Given the description of an element on the screen output the (x, y) to click on. 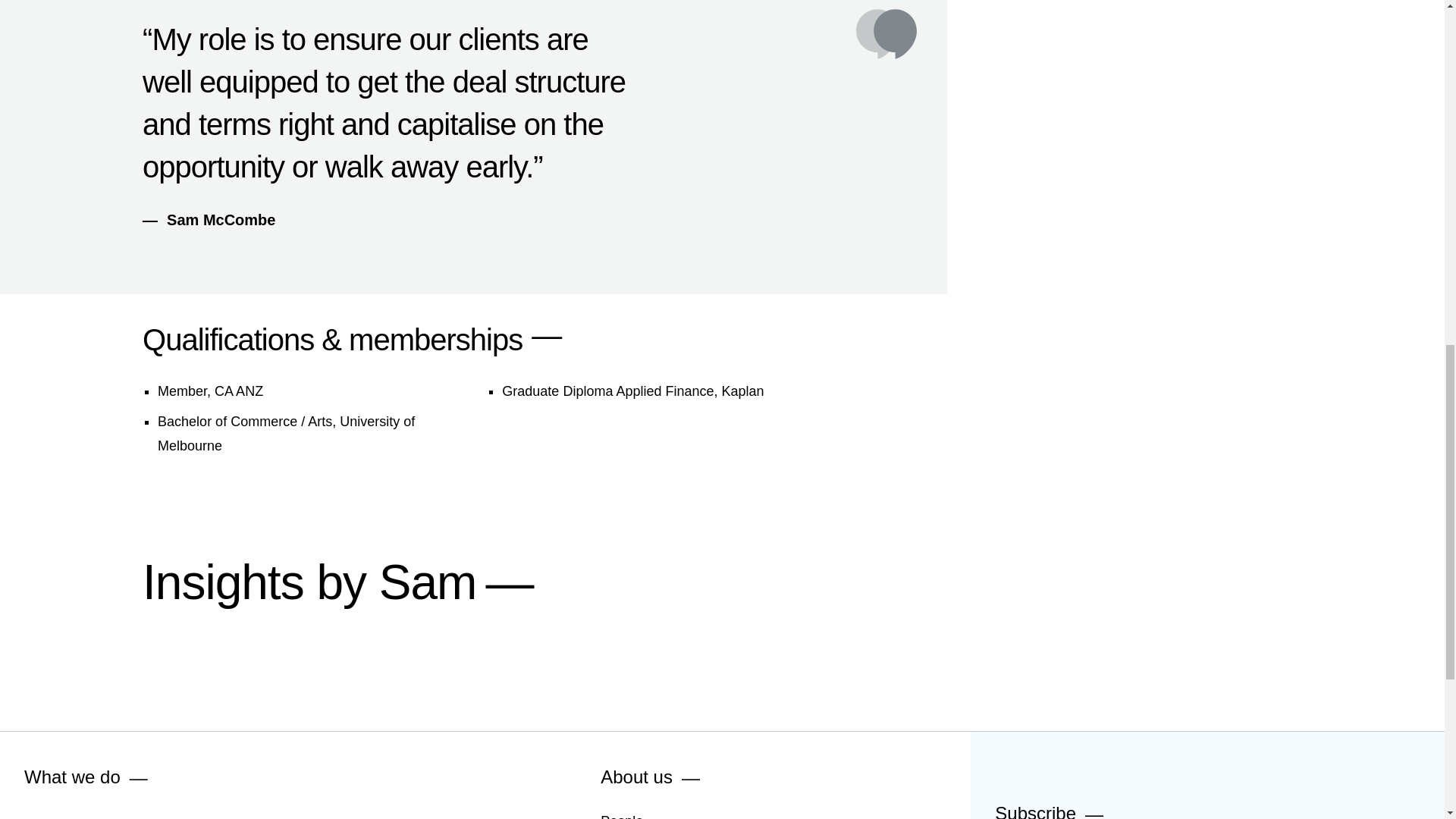
Advisory (50, 815)
Restructuring (258, 815)
What we do (72, 776)
About us (635, 776)
People (621, 814)
